Given the description of an element on the screen output the (x, y) to click on. 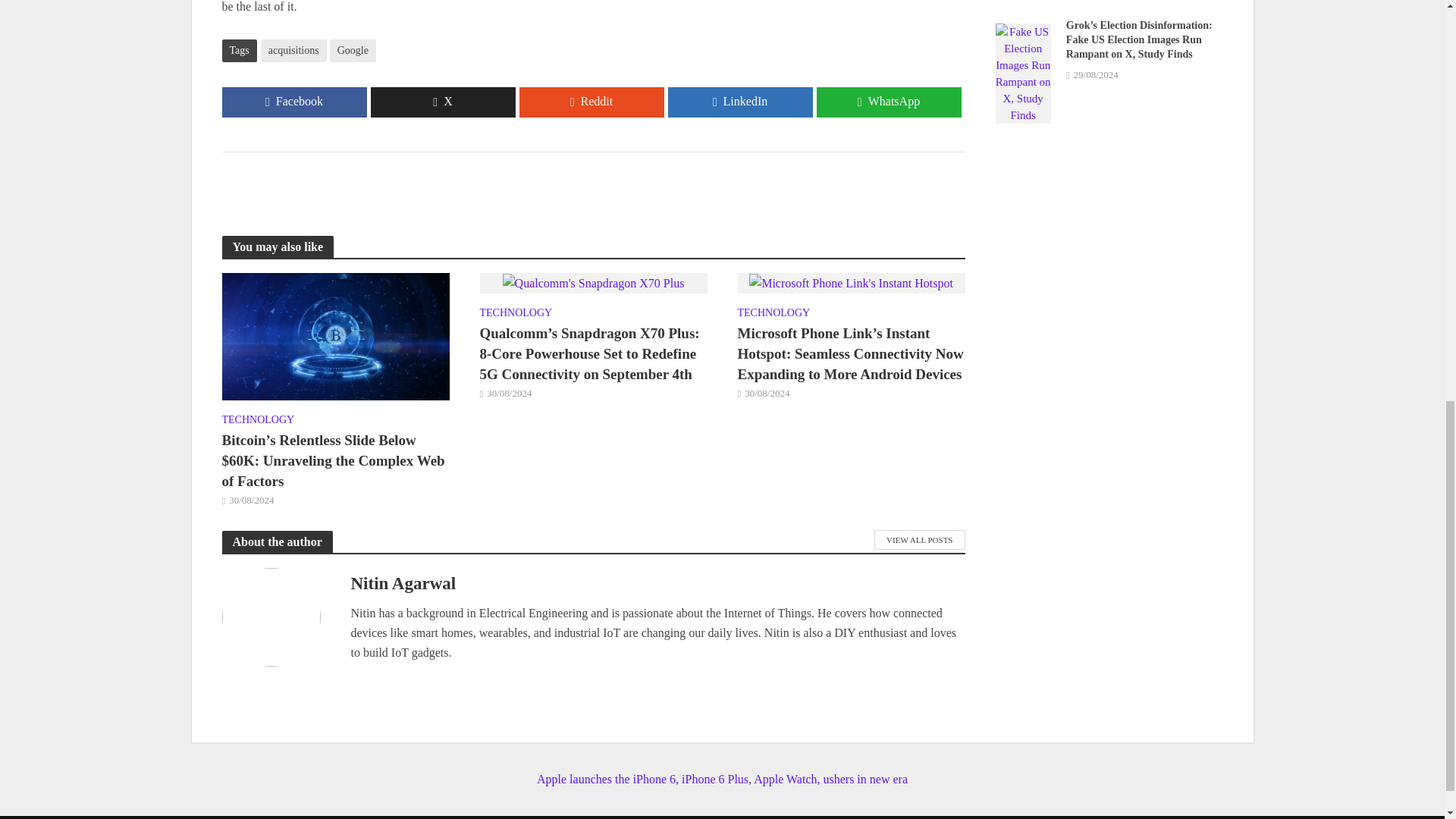
acquisitions (293, 50)
